Given the description of an element on the screen output the (x, y) to click on. 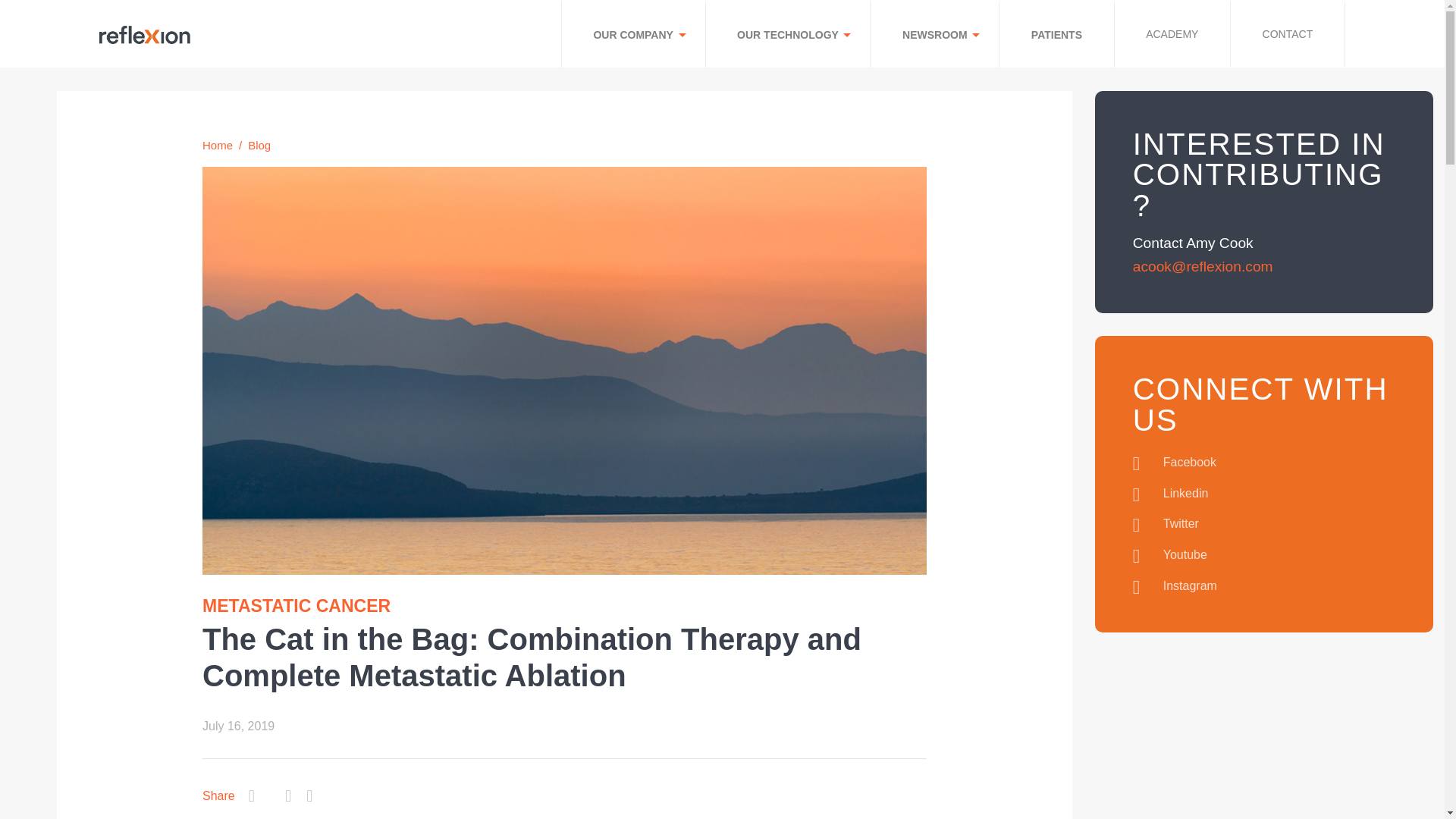
CONTACT (1286, 33)
OUR COMPANY (633, 34)
OUR TECHNOLOGY (786, 34)
ACADEMY (1171, 33)
Blog (258, 144)
ACADEMY (1171, 33)
PATIENTS (1055, 34)
Newsroom (934, 34)
PATIENTS (1055, 34)
Our Technology (786, 34)
Home (217, 144)
Our Company (633, 34)
NEWSROOM (934, 34)
